Given the description of an element on the screen output the (x, y) to click on. 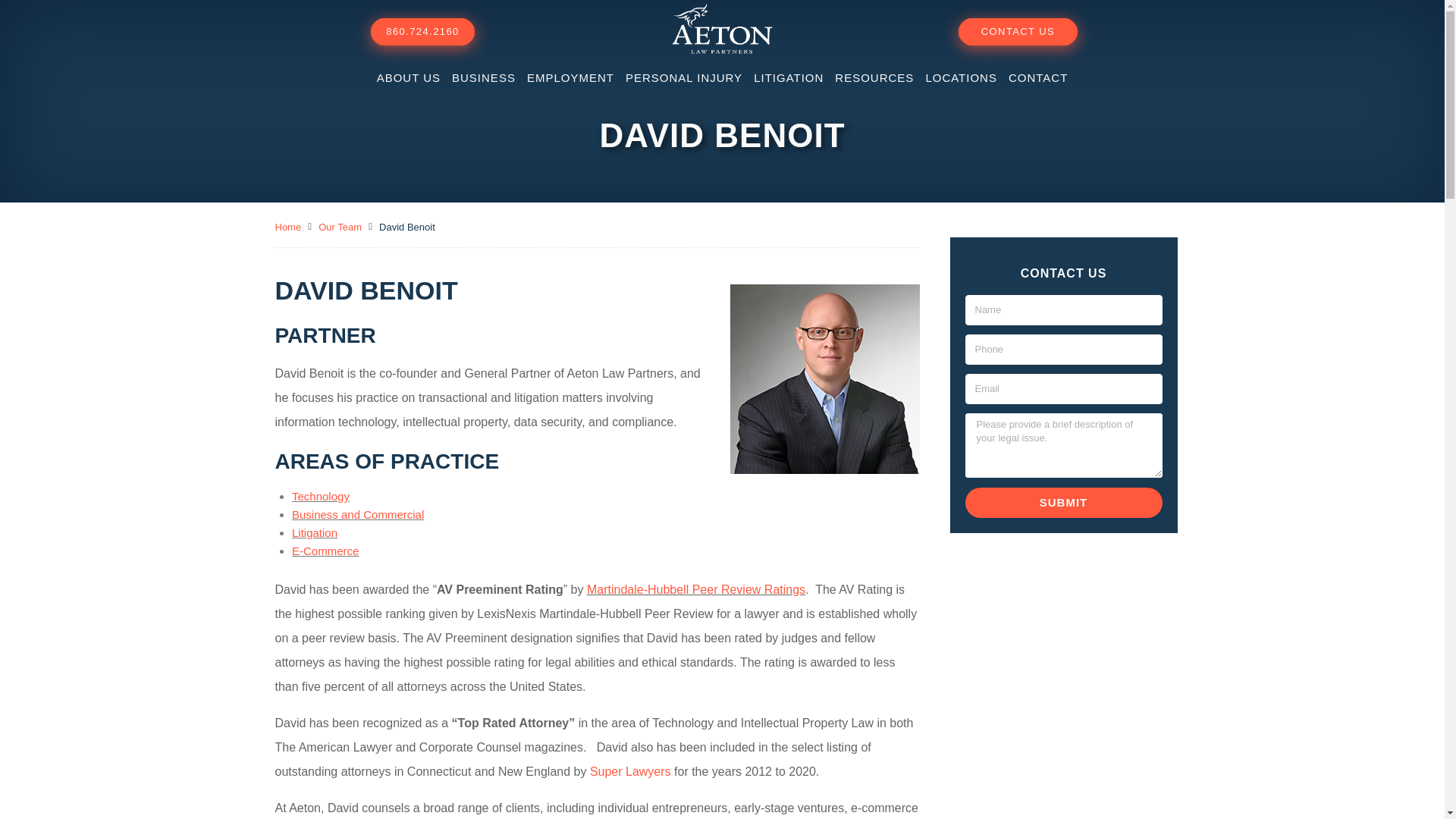
BUSINESS (483, 77)
Home (288, 227)
ABOUT US (409, 77)
Our Team (339, 227)
CONTACT US (1017, 31)
EMPLOYMENT (570, 77)
PERSONAL INJURY (684, 77)
860.724.2160 (422, 31)
